Given the description of an element on the screen output the (x, y) to click on. 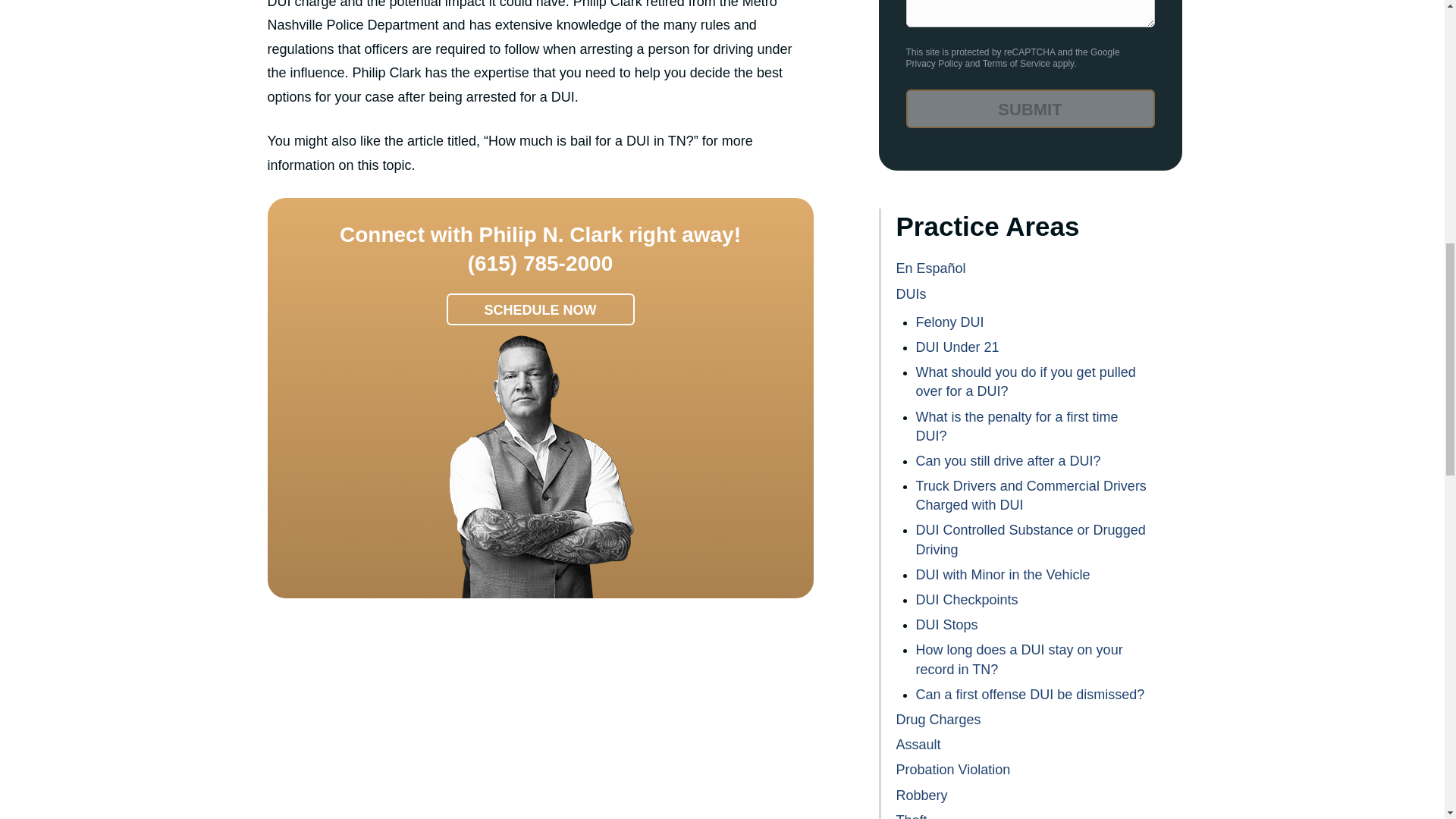
Submit (1029, 108)
